Given the description of an element on the screen output the (x, y) to click on. 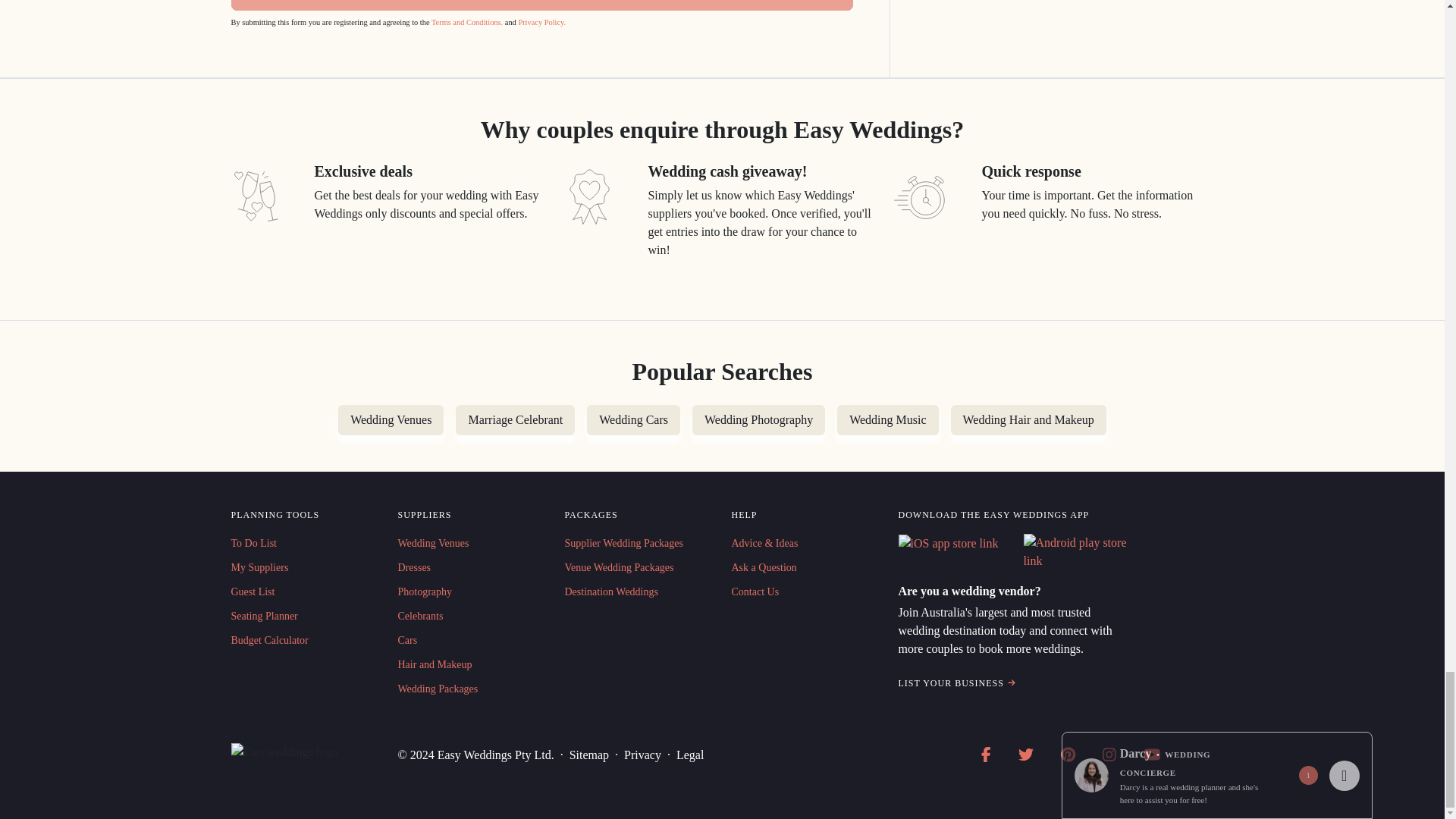
giveaway (588, 196)
iOS app store link (947, 543)
Android play store link (1077, 551)
Quick response (922, 196)
Exclusive deals (255, 196)
